Given the description of an element on the screen output the (x, y) to click on. 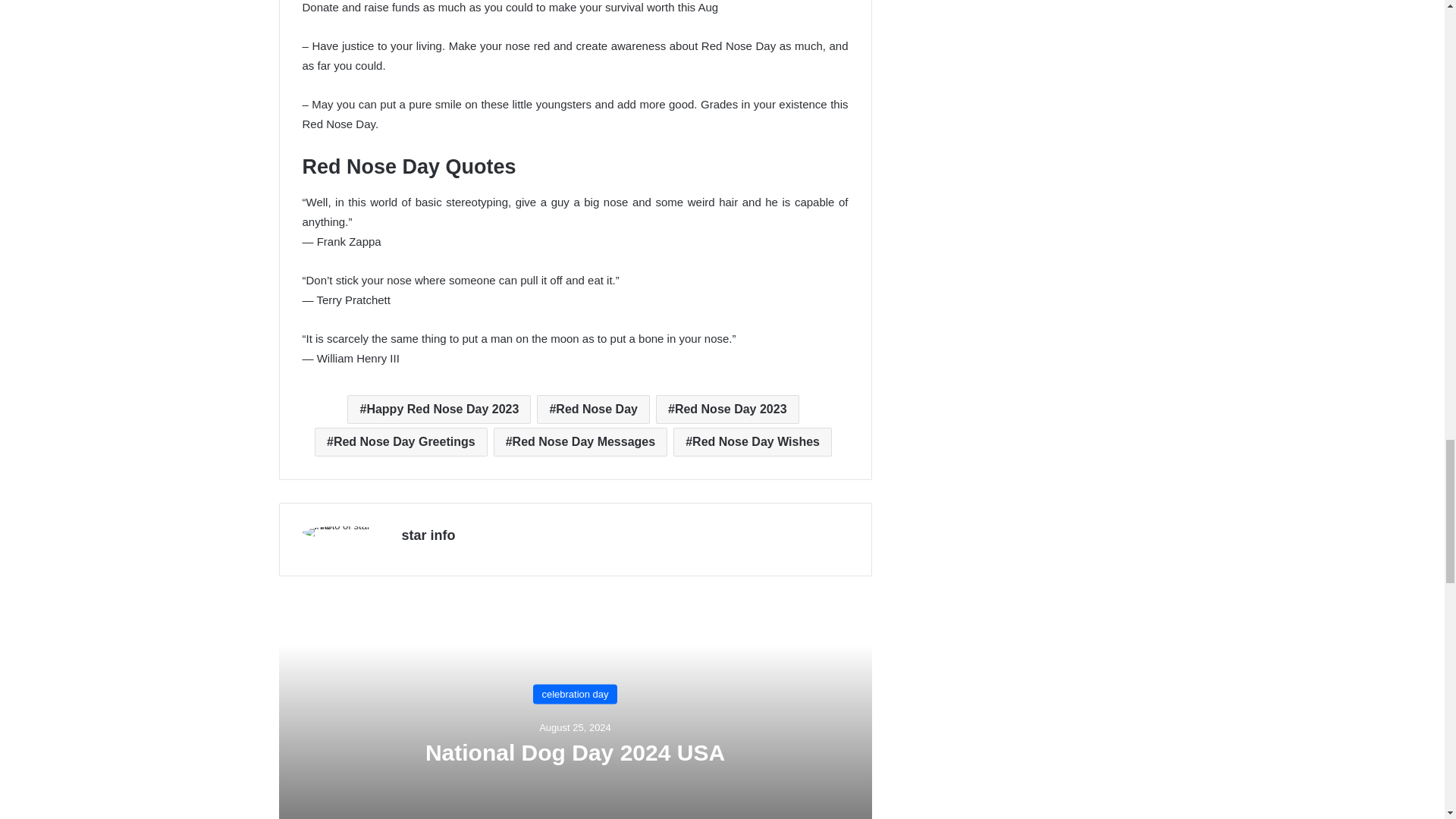
Red Nose Day 2023 (727, 409)
star info (428, 534)
Red Nose Day Wishes (751, 441)
National Dog Day 2024 USA (575, 752)
Red Nose Day Messages (579, 441)
Red Nose Day Greetings (400, 441)
celebration day (573, 694)
Happy Red Nose Day 2023 (439, 409)
Red Nose Day (593, 409)
